Given the description of an element on the screen output the (x, y) to click on. 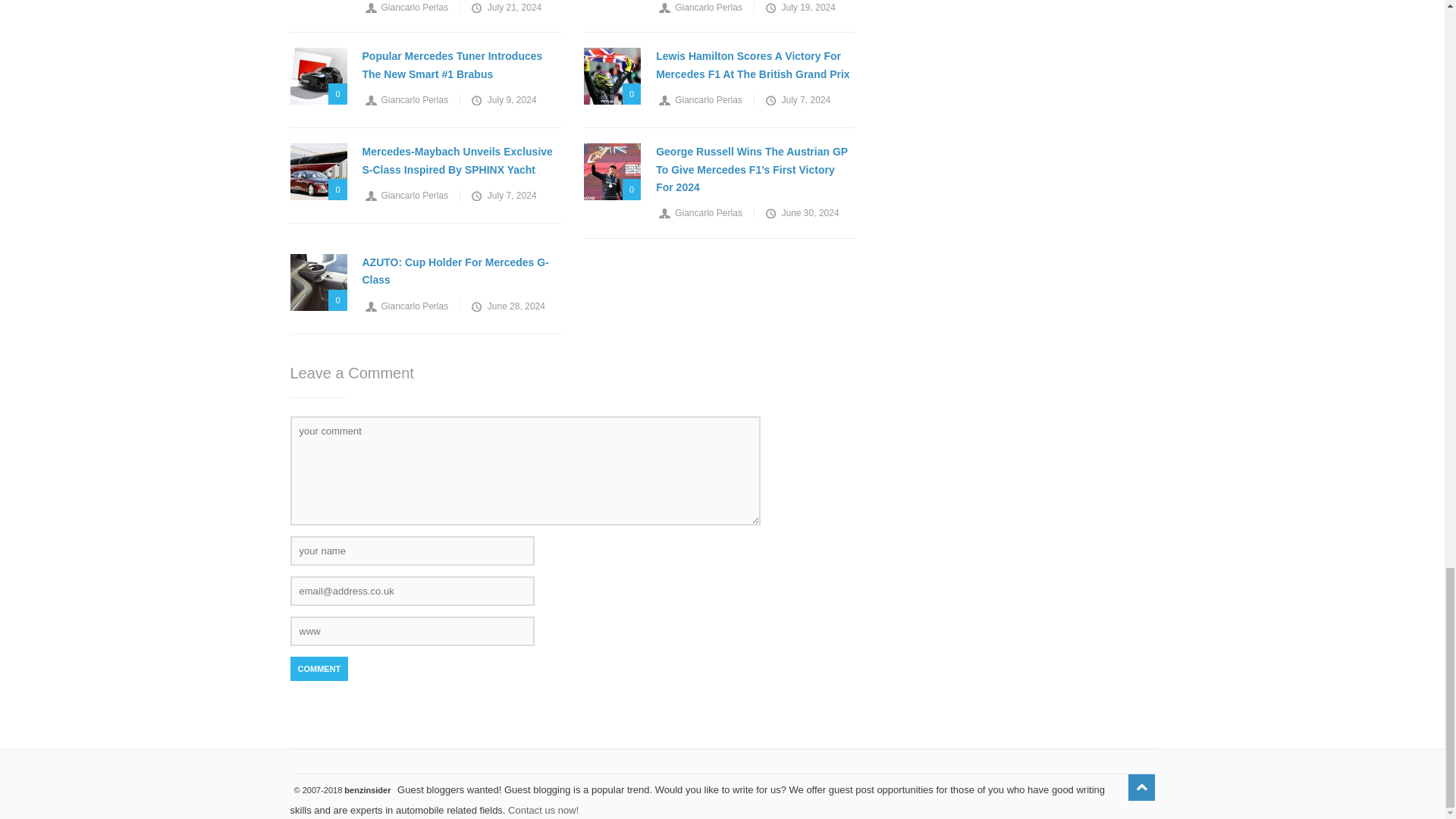
Comment (318, 668)
8:30 am (504, 7)
2:39 am (798, 7)
